Given the description of an element on the screen output the (x, y) to click on. 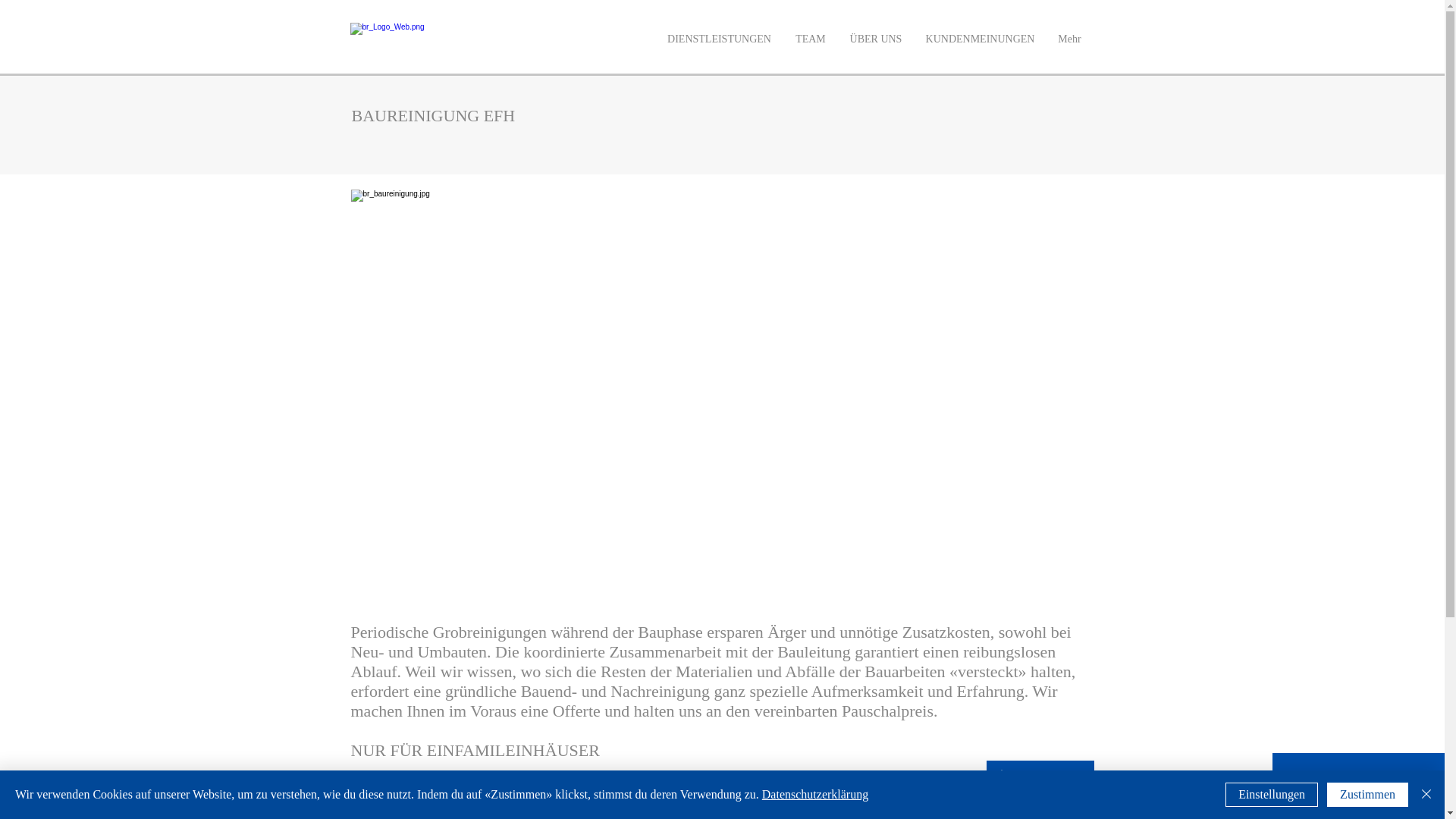
Zustimmen Element type: text (1367, 794)
+41 43 542 72 64 Element type: hover (1305, 788)
Einstellungen Element type: text (1271, 794)
KUNDENMEINUNGEN Element type: text (979, 39)
TEAM Element type: text (810, 39)
reinigung@barrientos.ch Element type: hover (1348, 788)
DIENSTLEISTUNGEN Element type: text (719, 39)
